Given the description of an element on the screen output the (x, y) to click on. 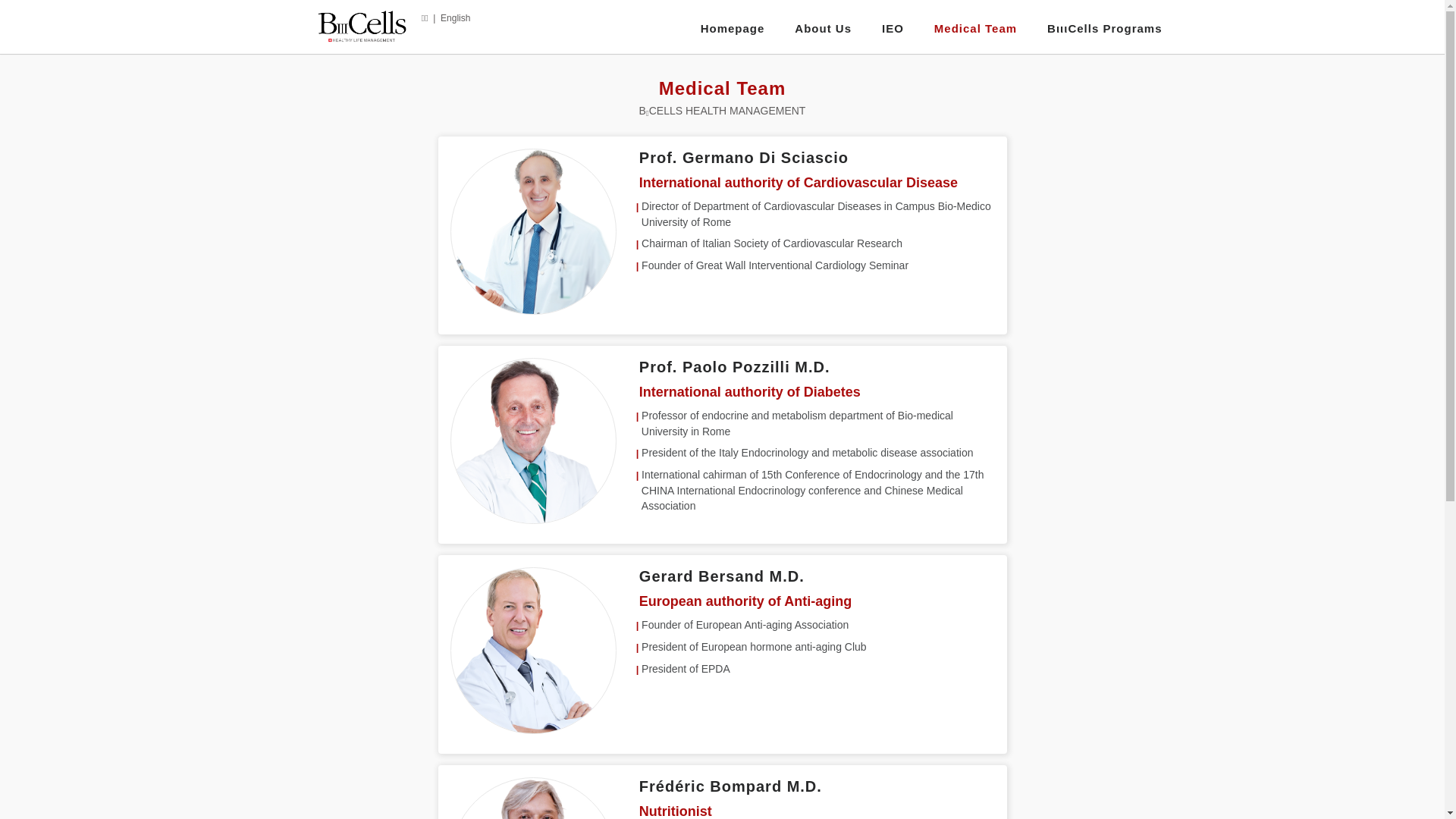
About Us Element type: text (822, 28)
IEO Element type: text (892, 28)
Homepage Element type: text (732, 28)
English Element type: text (455, 17)
Medical Team Element type: text (975, 28)
